Given the description of an element on the screen output the (x, y) to click on. 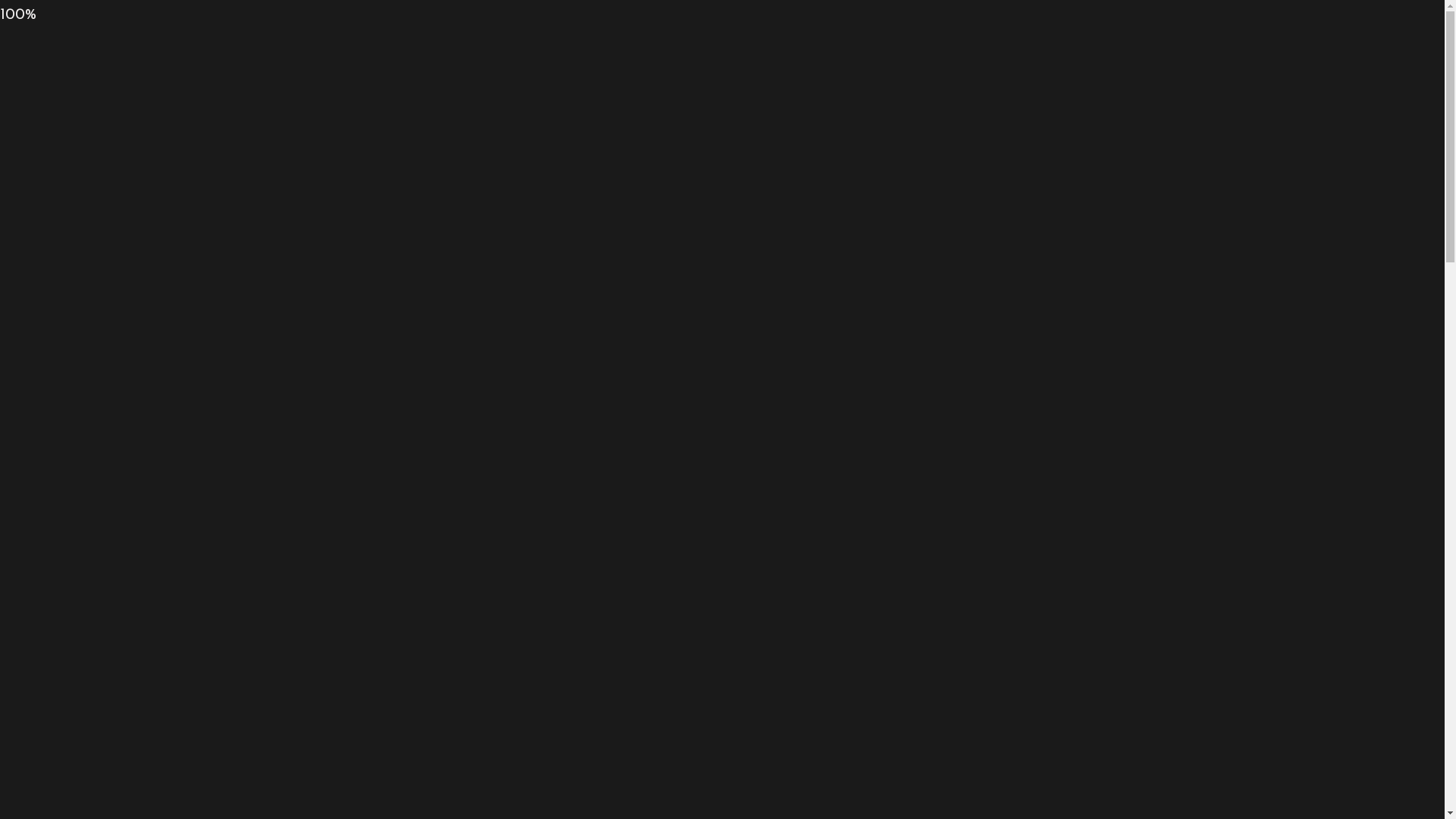
BLOG Element type: text (915, 123)
SKONTAKTUJ SIE Z NAMI Element type: text (721, 774)
OFERTA Element type: text (732, 123)
+48 501 515 054 Element type: text (1120, 58)
ewa2m7@gmail.com Element type: text (335, 58)
PORTFOLIO Element type: text (628, 123)
O NAS Element type: text (531, 123)
KONTAKT Element type: text (828, 123)
